Given the description of an element on the screen output the (x, y) to click on. 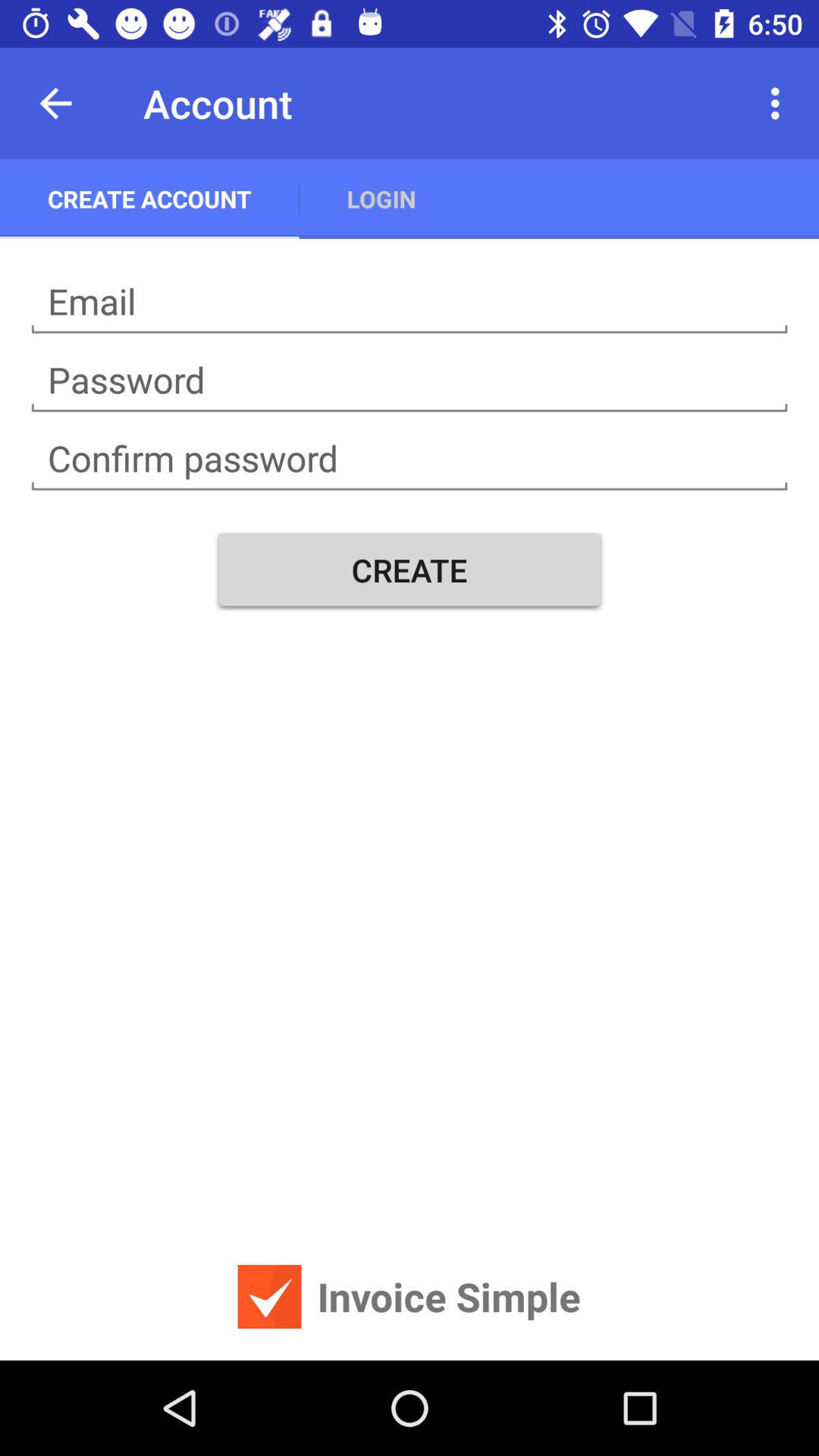
turn on icon next to account icon (55, 103)
